Given the description of an element on the screen output the (x, y) to click on. 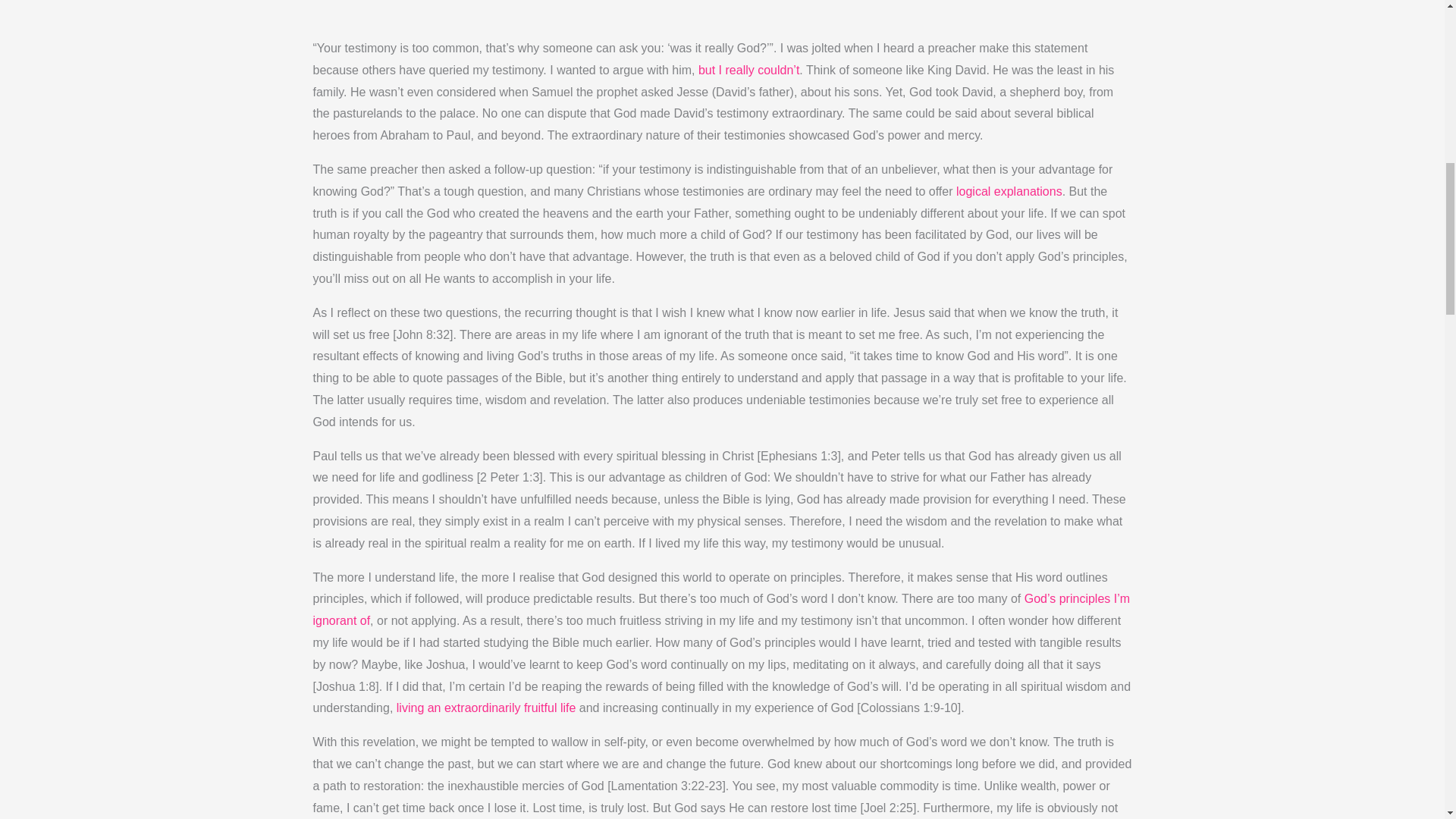
living an extraordinarily fruitful life (486, 711)
logical explanations (1009, 195)
